Given the description of an element on the screen output the (x, y) to click on. 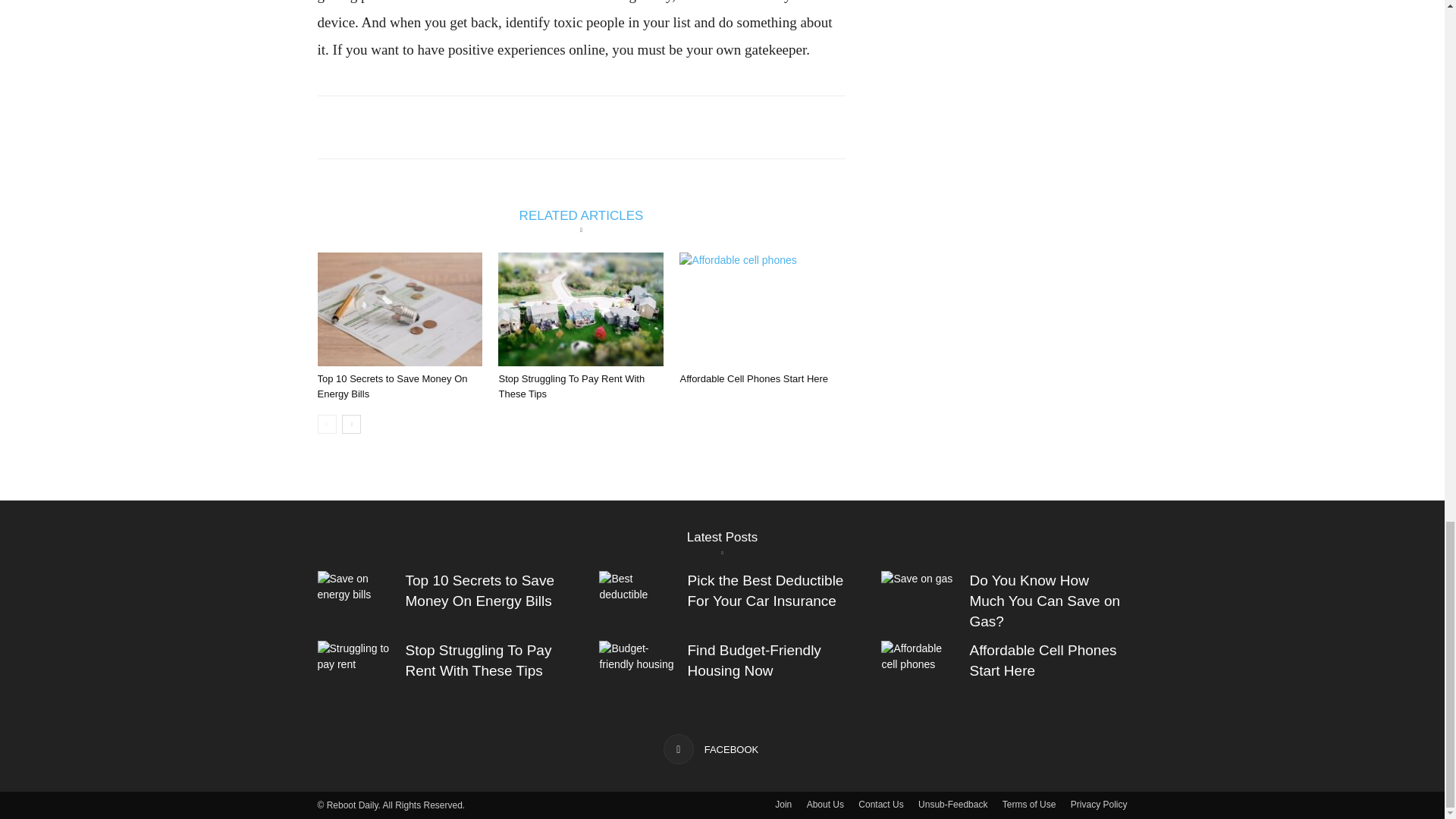
Top 10 Secrets to Save Money On Energy Bills (392, 386)
Stop Struggling To Pay Rent With These Tips (580, 309)
Stop Struggling To Pay Rent With These Tips (571, 386)
Top 10 Secrets to Save Money On Energy Bills (392, 386)
Affordable Cell Phones Start Here (753, 378)
Top 10 Secrets to Save Money On Energy Bills (399, 309)
RELATED ARTICLES (581, 211)
